Given the description of an element on the screen output the (x, y) to click on. 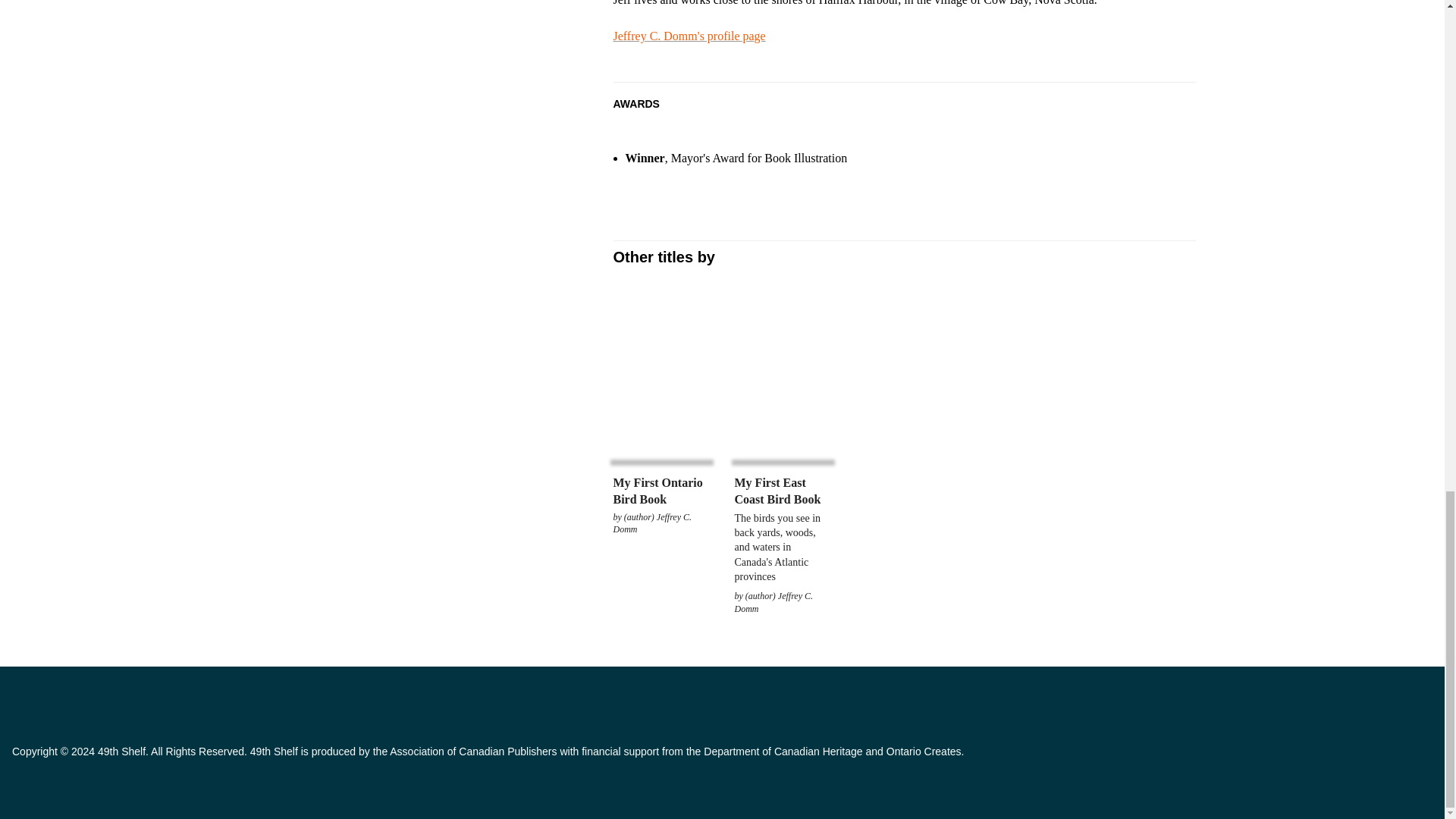
Visit us on Twitter (57, 702)
Visit us on Facebook (23, 702)
INSTAGRAM (90, 702)
Jeffrey C. Domm's profile page (688, 35)
TWITTER (57, 702)
FACEBOOK (23, 702)
Visit us on Instagram (90, 702)
